Given the description of an element on the screen output the (x, y) to click on. 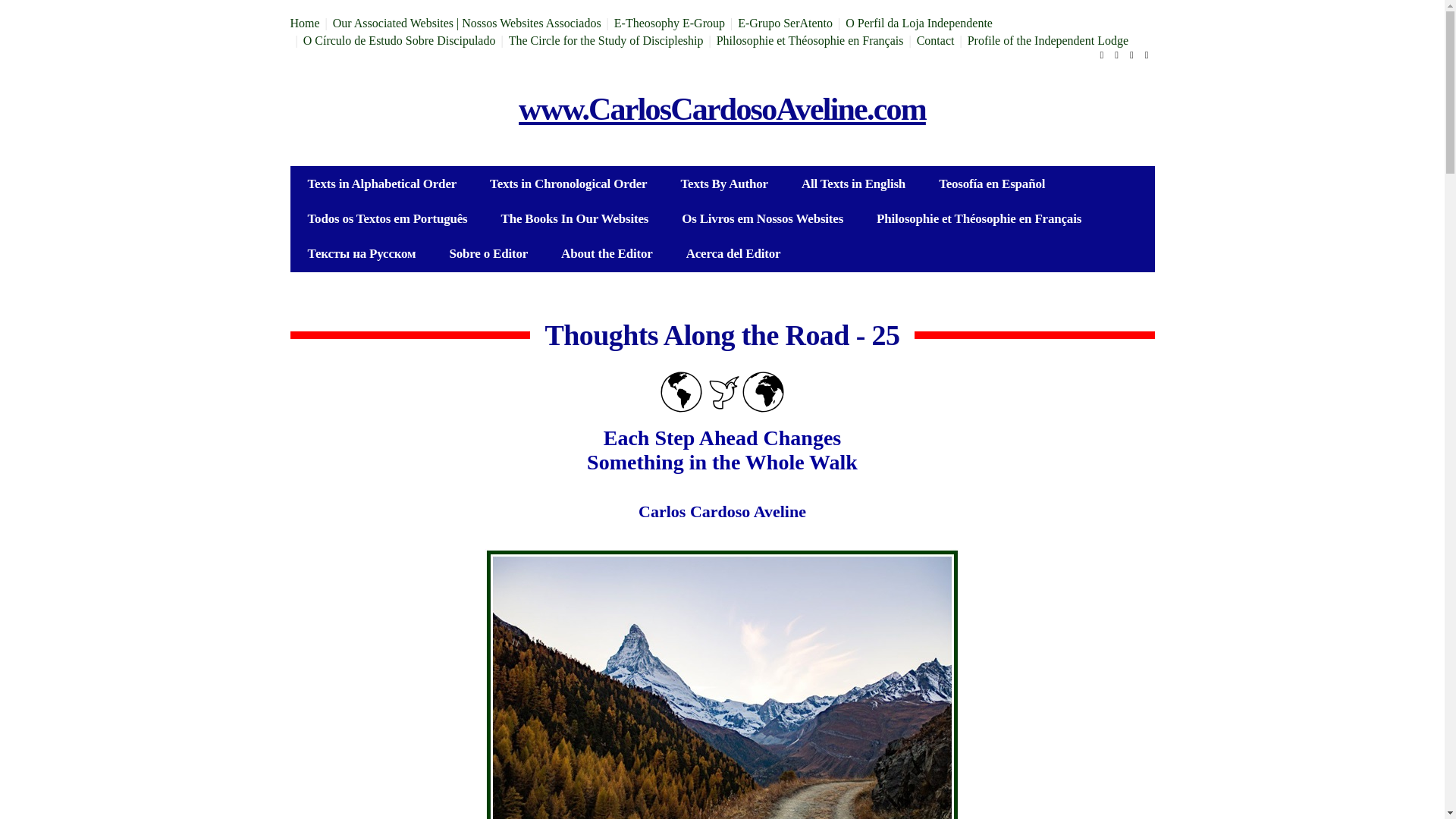
Os Livros em Nossos Websites (762, 218)
Texts in Alphabetical Order (382, 184)
Sobre o Editor (488, 253)
All Texts in English (852, 184)
Acerca del Editor (733, 253)
The Books In Our Websites (574, 218)
E-Theosophy E-Group (669, 22)
Profile of the Independent Lodge (1048, 40)
Home (303, 22)
O Perfil da Loja Independente (918, 22)
Texts in Chronological Order (568, 184)
Texts By Author (723, 184)
E-Grupo SerAtento (785, 22)
About the Editor (606, 253)
The Circle for the Study of Discipleship (605, 40)
